Given the description of an element on the screen output the (x, y) to click on. 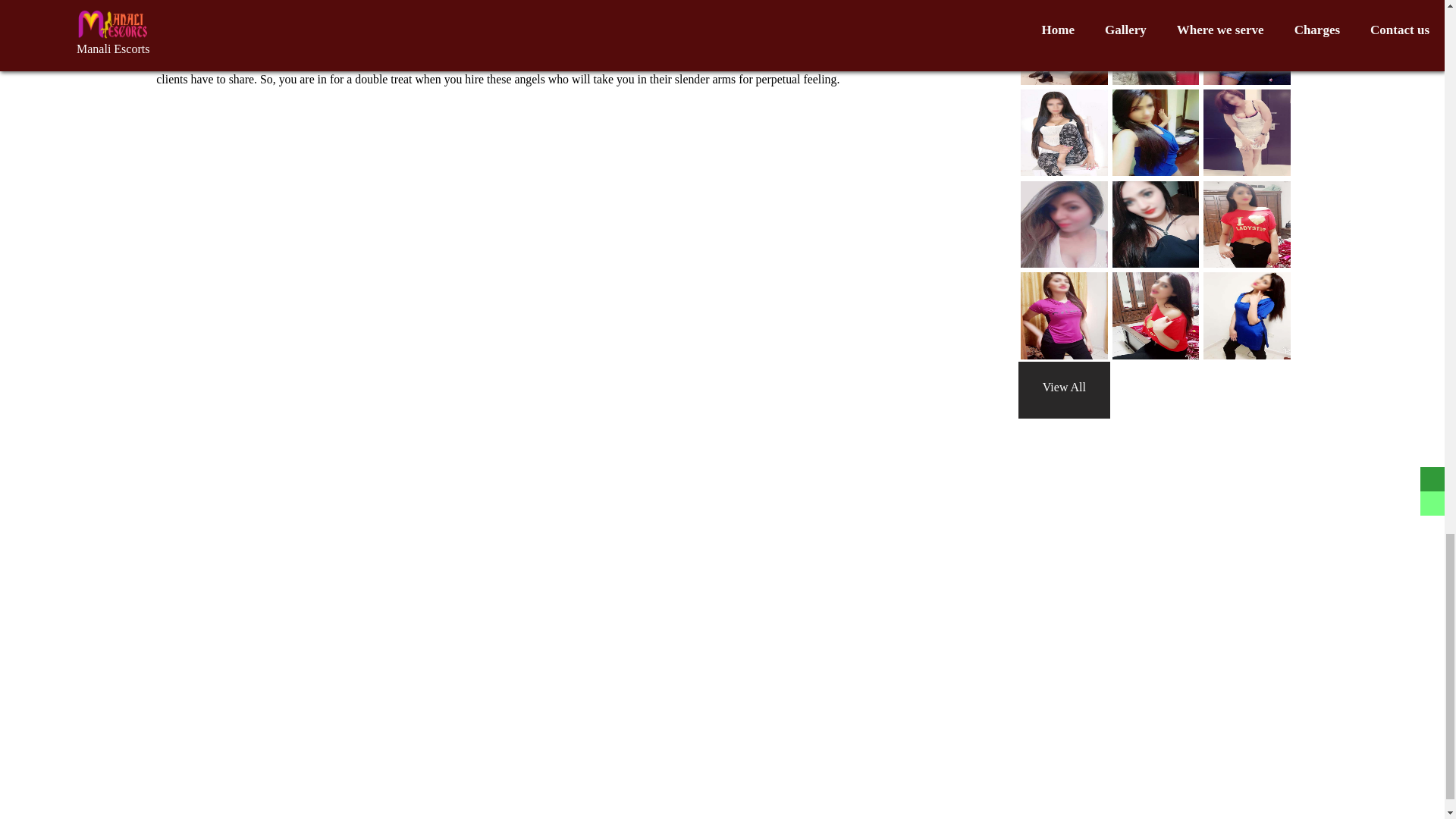
Gallery (1064, 386)
View All (1064, 386)
